Given the description of an element on the screen output the (x, y) to click on. 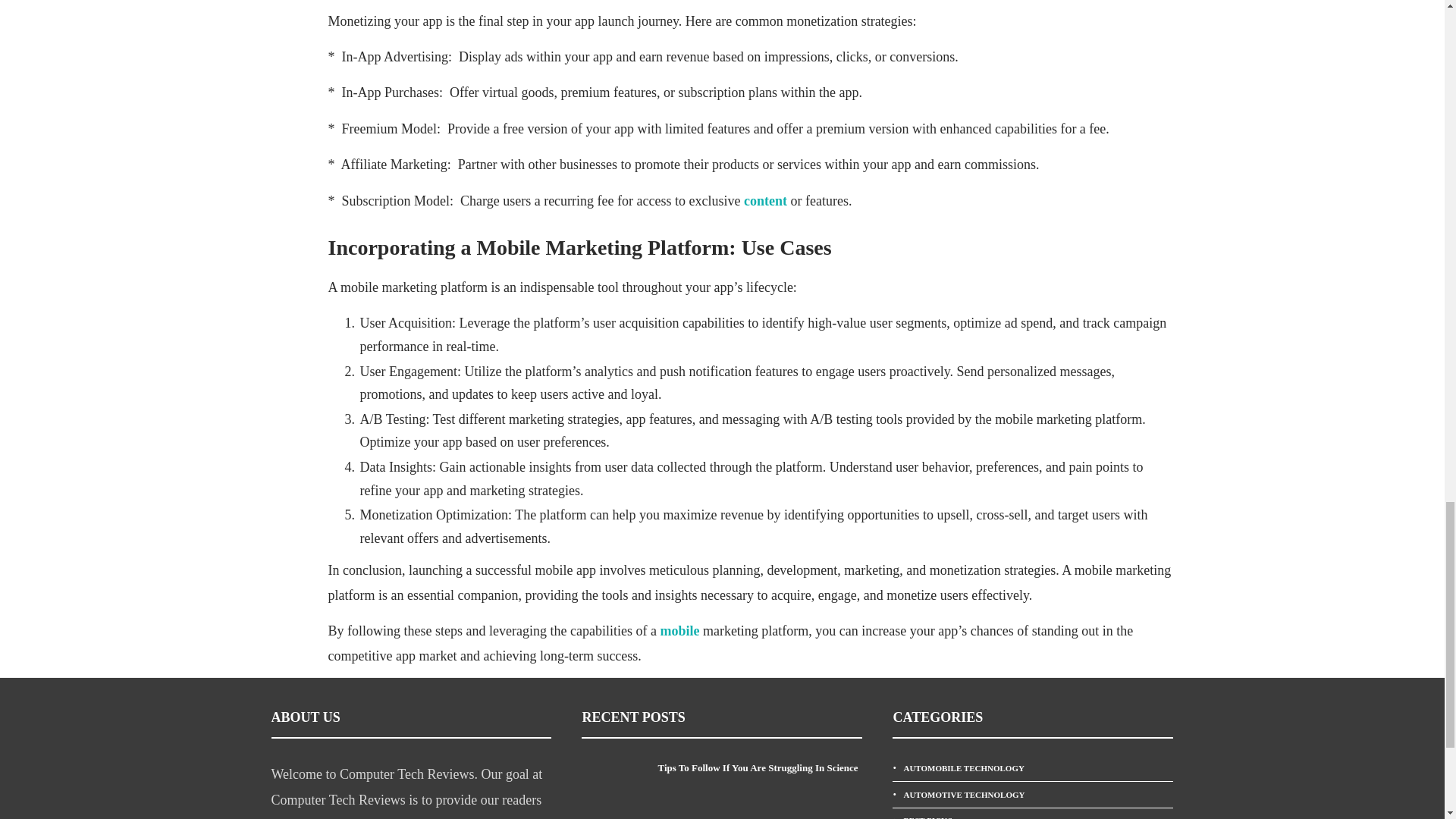
AUTOMOBILE TECHNOLOGY (1032, 768)
mobile (681, 630)
Tips To Follow If You Are Struggling In Science (759, 767)
content (765, 200)
